Given the description of an element on the screen output the (x, y) to click on. 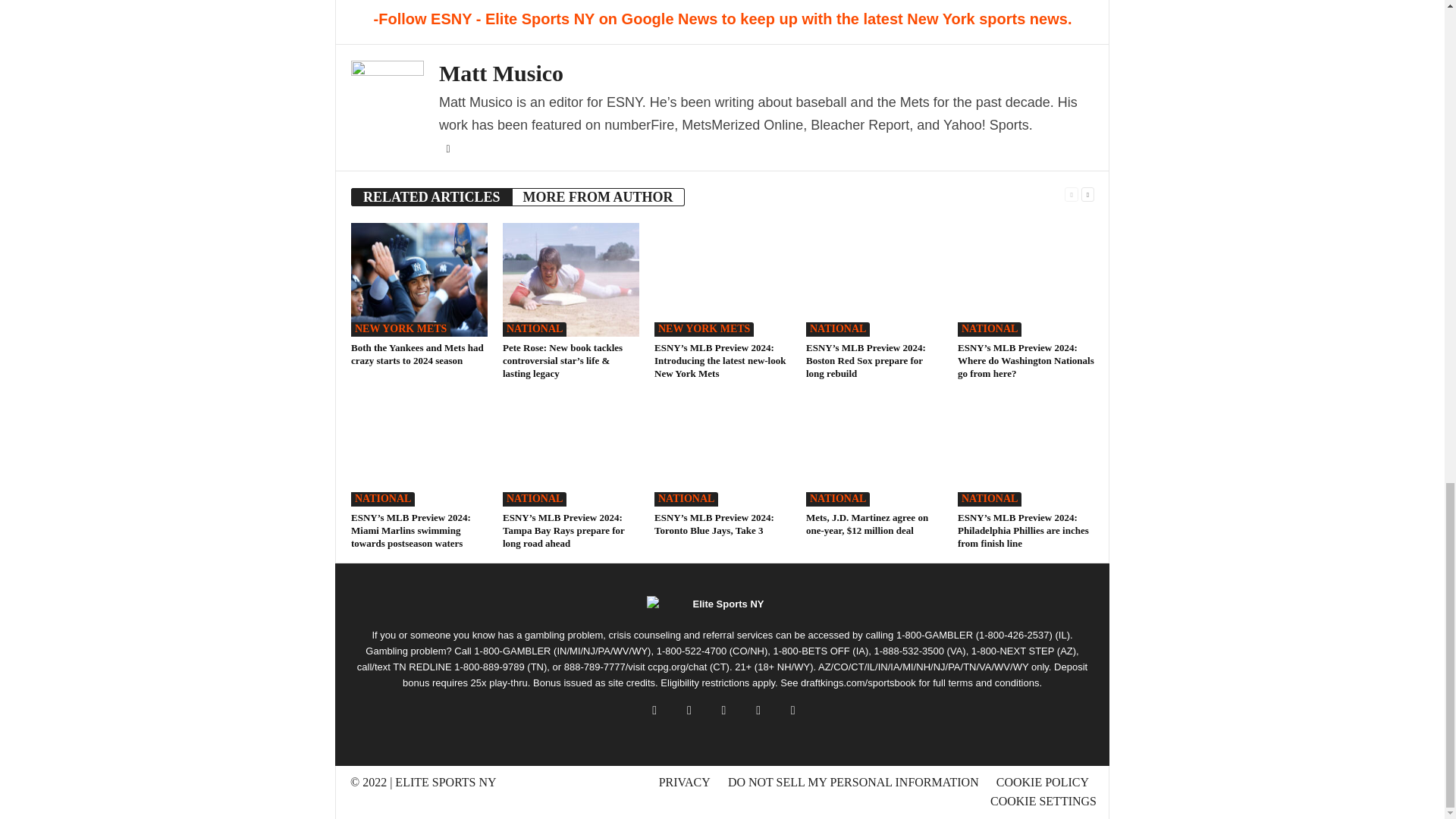
Both the Yankees and Mets had crazy starts to 2024 season (416, 354)
Twitter (448, 149)
Both the Yankees and Mets had crazy starts to 2024 season (418, 279)
